Given the description of an element on the screen output the (x, y) to click on. 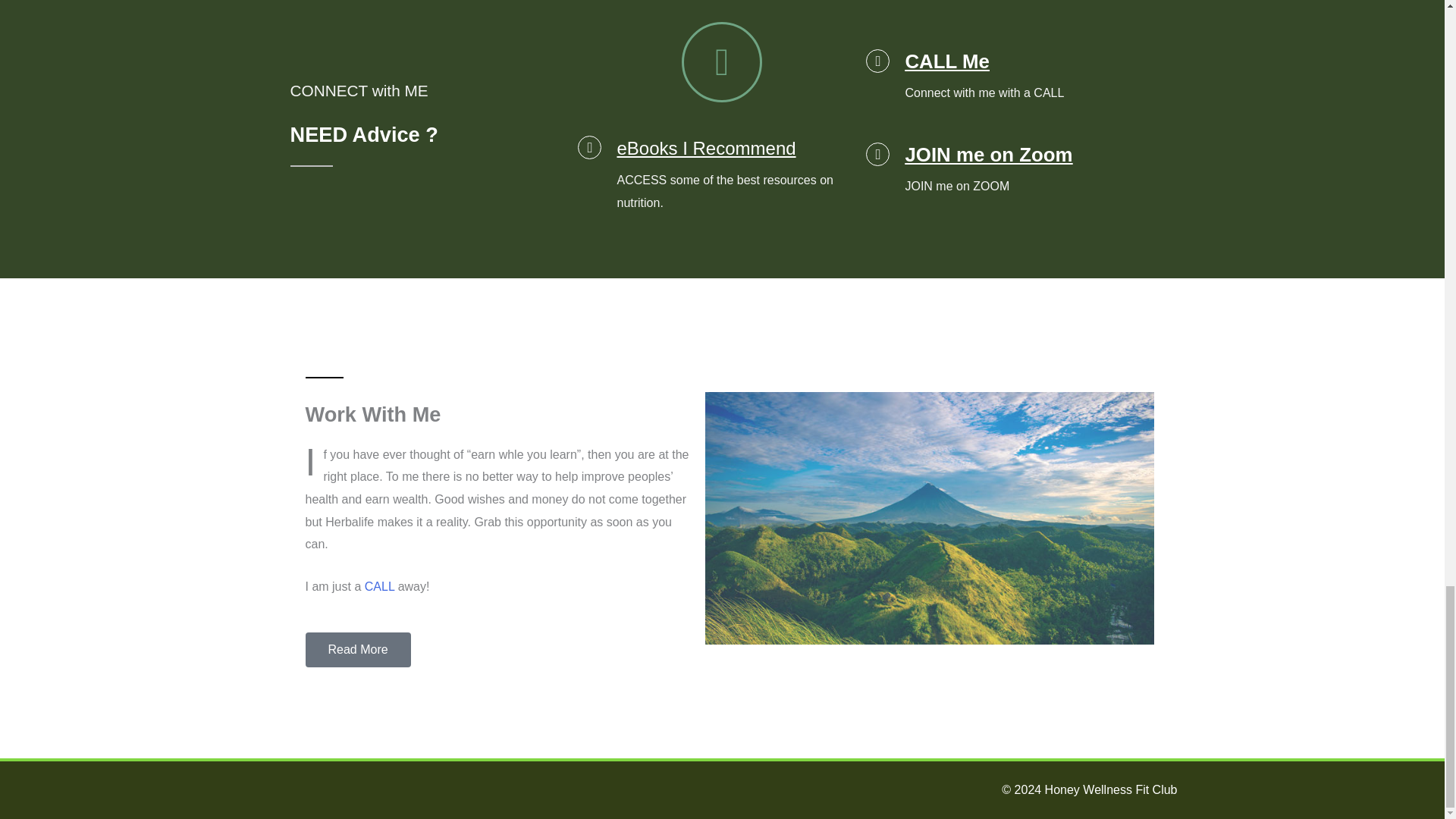
CALL (379, 585)
JOIN me on Zoom (987, 154)
CALL Me (946, 61)
Read More (357, 649)
